Given the description of an element on the screen output the (x, y) to click on. 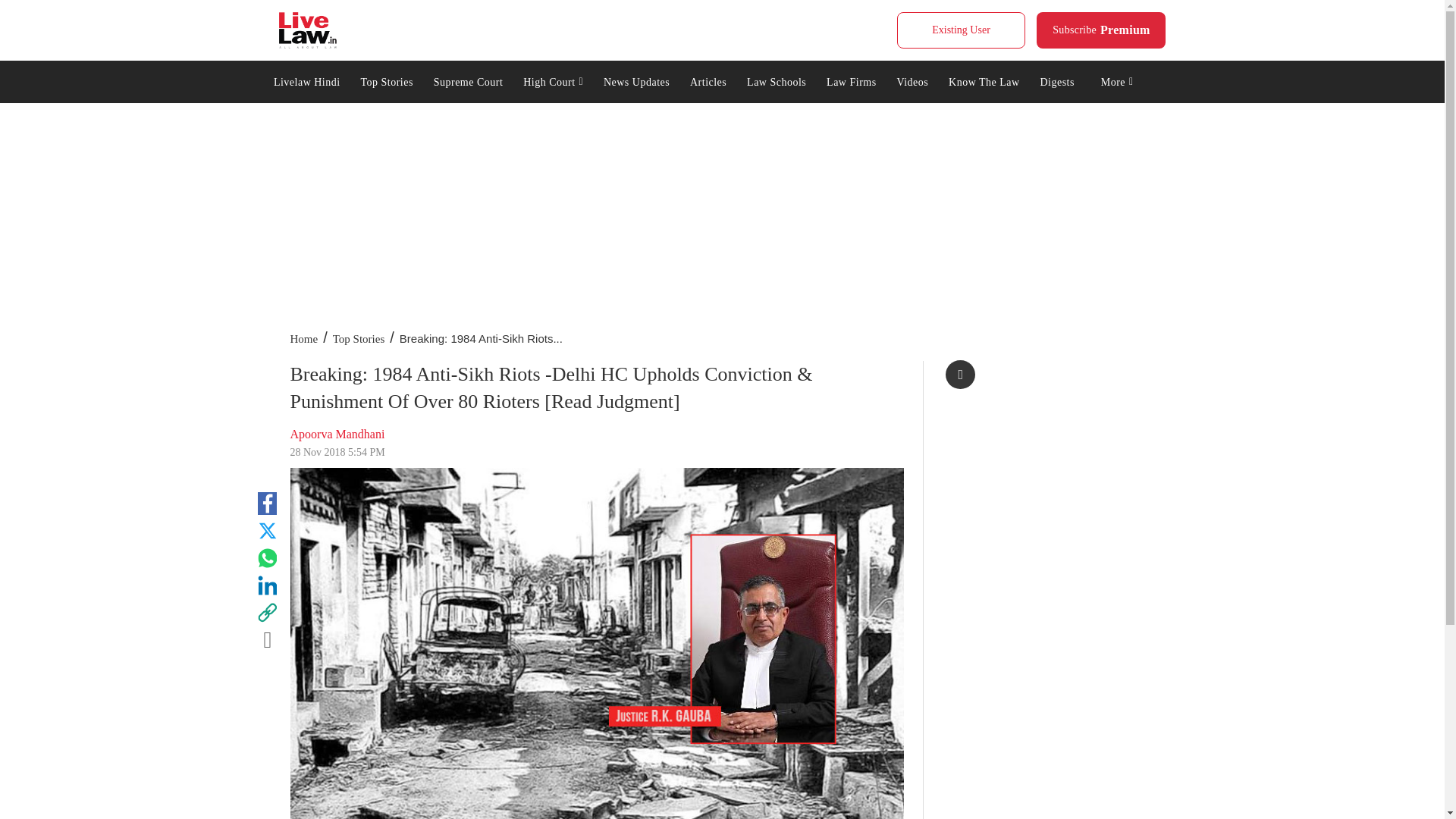
Livelaw Hindi (306, 80)
High Court (553, 80)
Supreme Court (467, 80)
Live Law (307, 30)
Top Stories (386, 80)
Existing User (1101, 30)
